Given the description of an element on the screen output the (x, y) to click on. 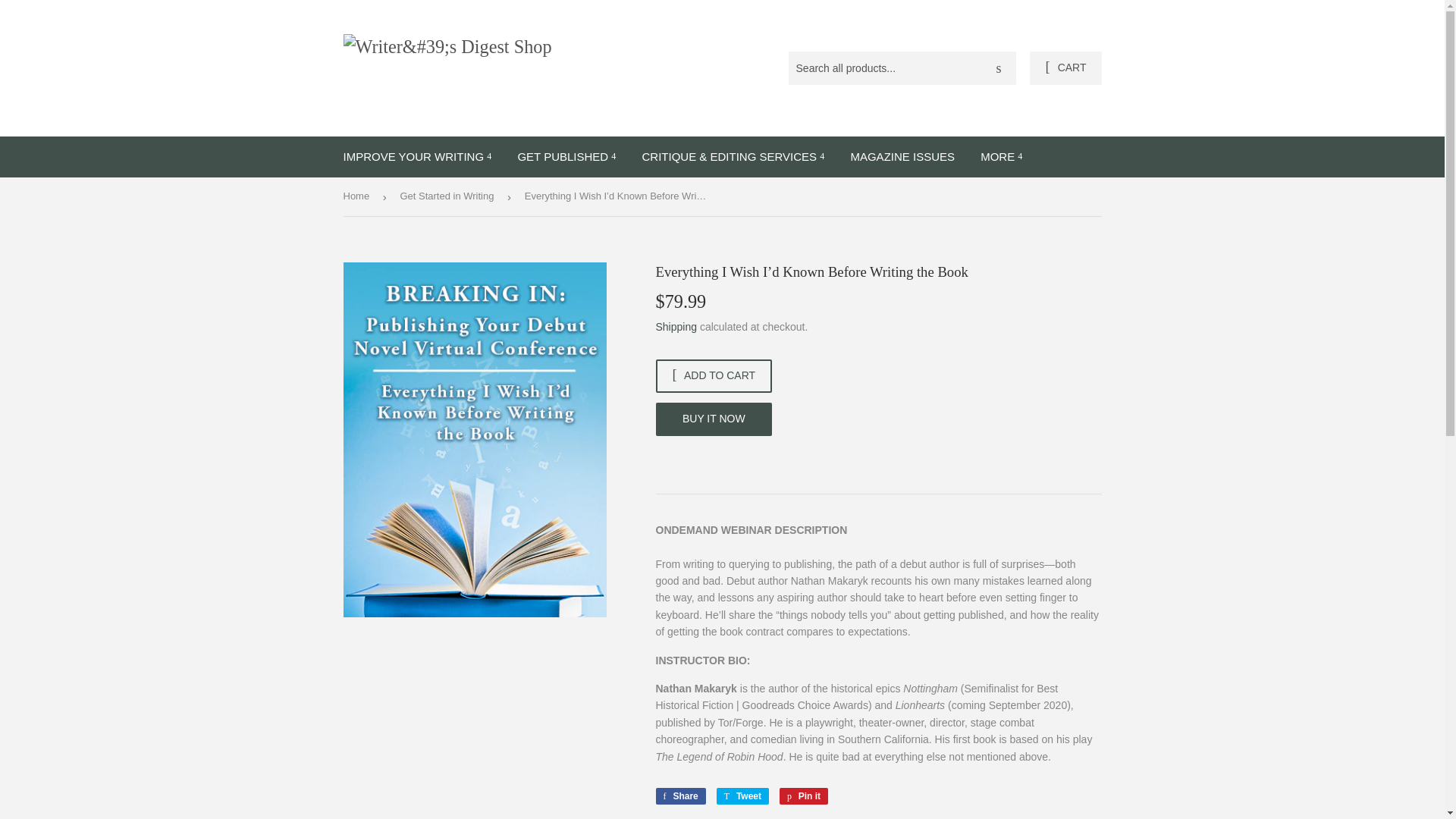
Share on Facebook (679, 795)
Tweet on Twitter (742, 795)
CART (1064, 68)
Pin on Pinterest (803, 795)
Search (998, 69)
